Given the description of an element on the screen output the (x, y) to click on. 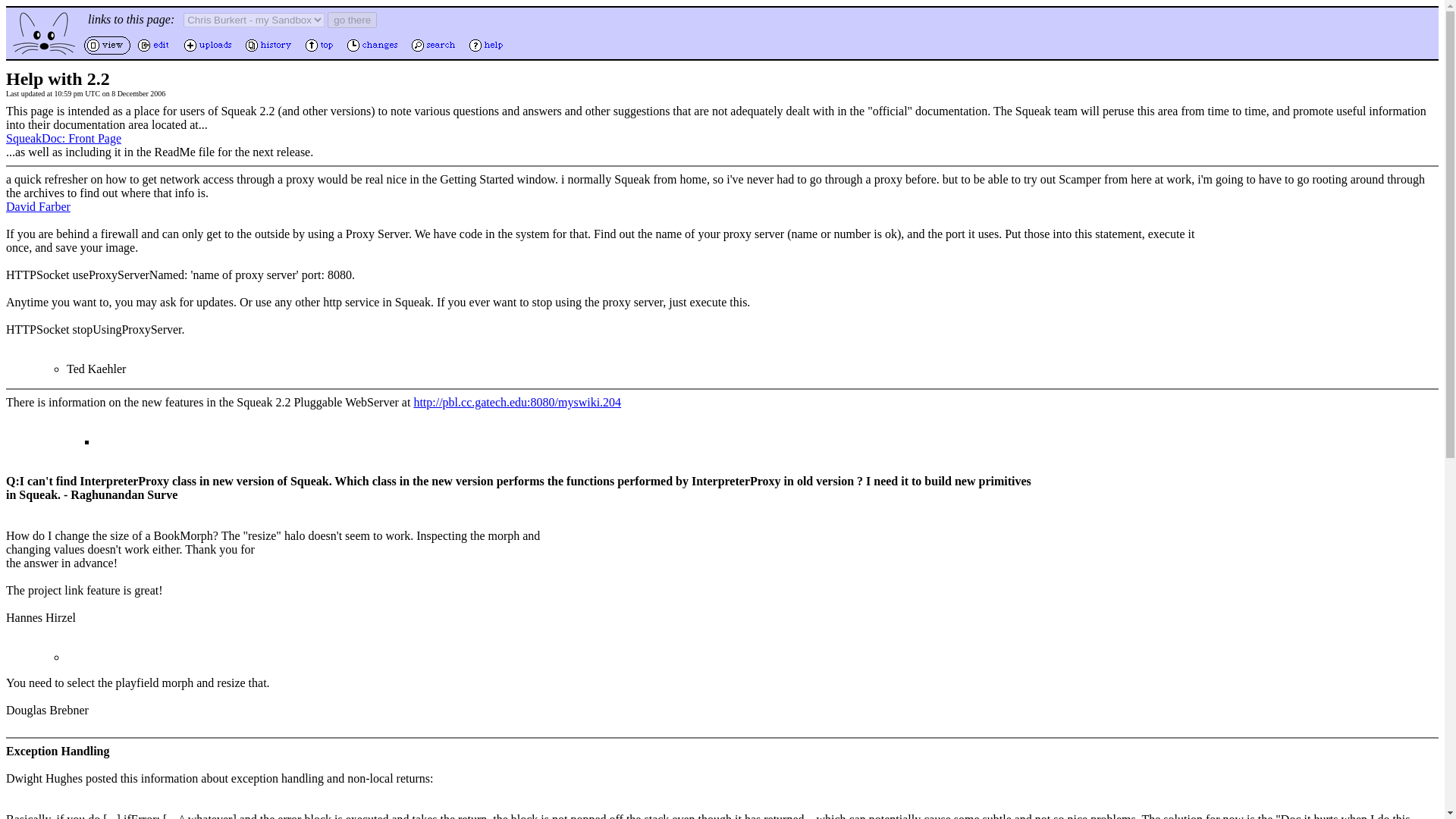
Recent Changes (374, 51)
Edit this Page (155, 51)
go there (352, 19)
SqueakDoc: Front Page (62, 137)
History of this Page (269, 51)
Uploads to this Page (209, 51)
go there (352, 19)
Top of the Swiki (320, 51)
David Farber (37, 205)
Search the Swiki (435, 51)
Help Guide (488, 51)
